Given the description of an element on the screen output the (x, y) to click on. 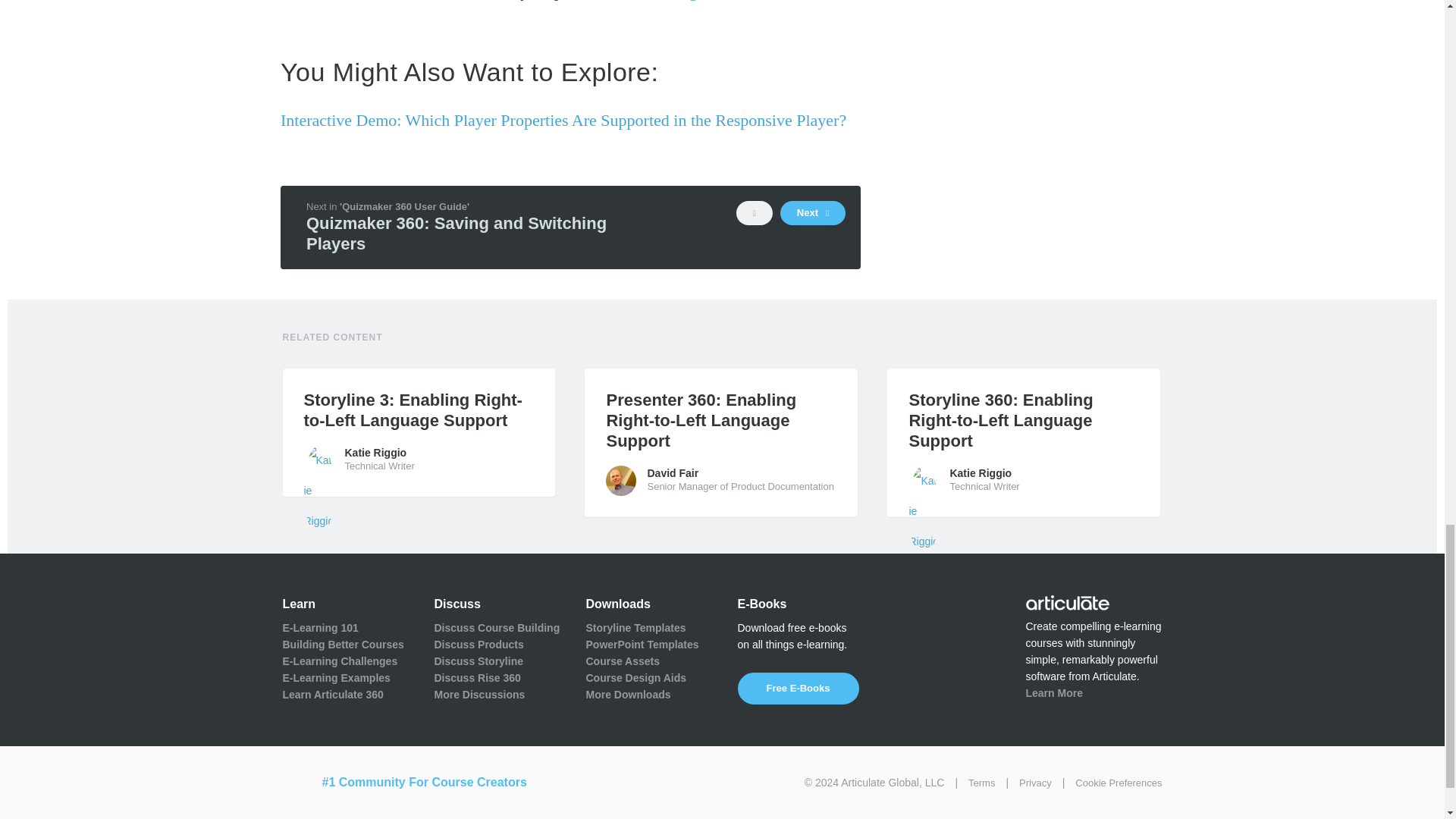
Presenter 360: Enabling Right-to-Left Language Support (720, 420)
Storyline 3: Enabling Right-to-Left Language Support (418, 409)
Storyline 360: Enabling Right-to-Left Language Support (1023, 420)
David Fair (620, 481)
